Given the description of an element on the screen output the (x, y) to click on. 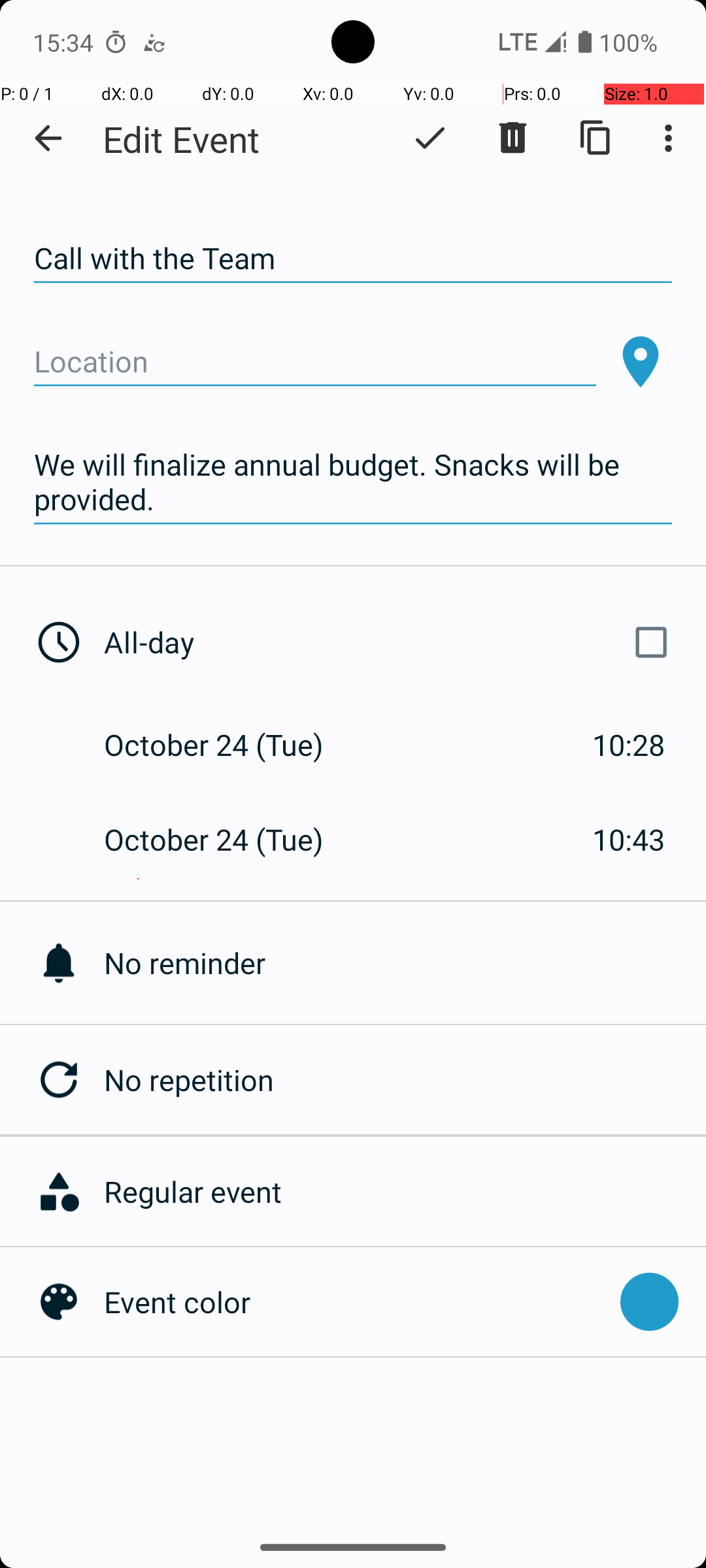
We will finalize annual budget. Snacks will be provided. Element type: android.widget.EditText (352, 482)
October 24 (Tue) Element type: android.widget.TextView (227, 744)
10:28 Element type: android.widget.TextView (628, 744)
10:43 Element type: android.widget.TextView (628, 838)
